Given the description of an element on the screen output the (x, y) to click on. 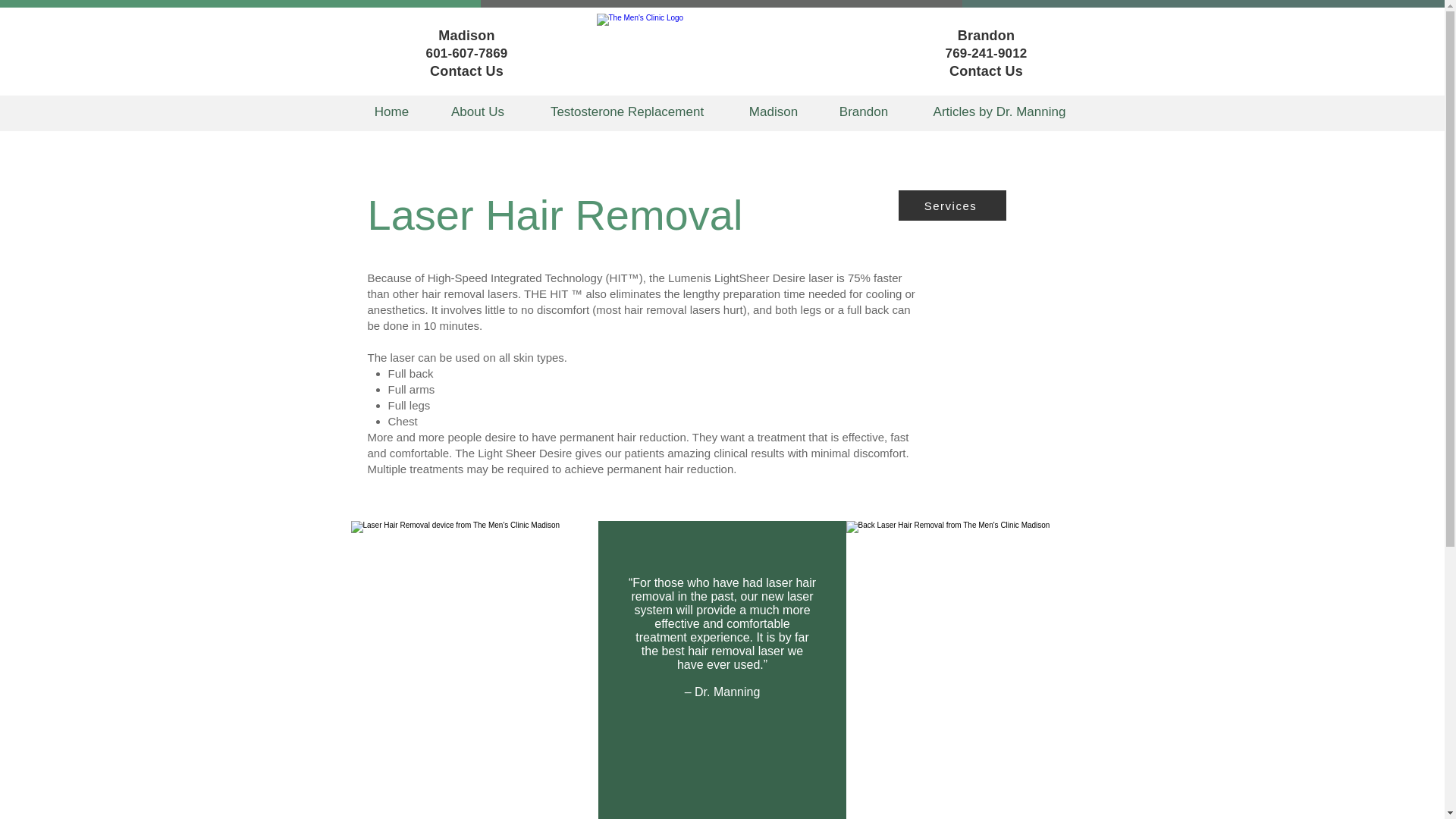
Contact Us (466, 70)
Brandon (863, 111)
Contact Us (986, 70)
Testosterone Replacement (627, 111)
About Us (477, 111)
601-607-7869 (467, 52)
Services (952, 205)
Logo for The Men's Clinic (721, 49)
769-241-9012 (985, 52)
Articles by Dr. Manning (998, 111)
Madison (773, 111)
Home (391, 111)
